Given the description of an element on the screen output the (x, y) to click on. 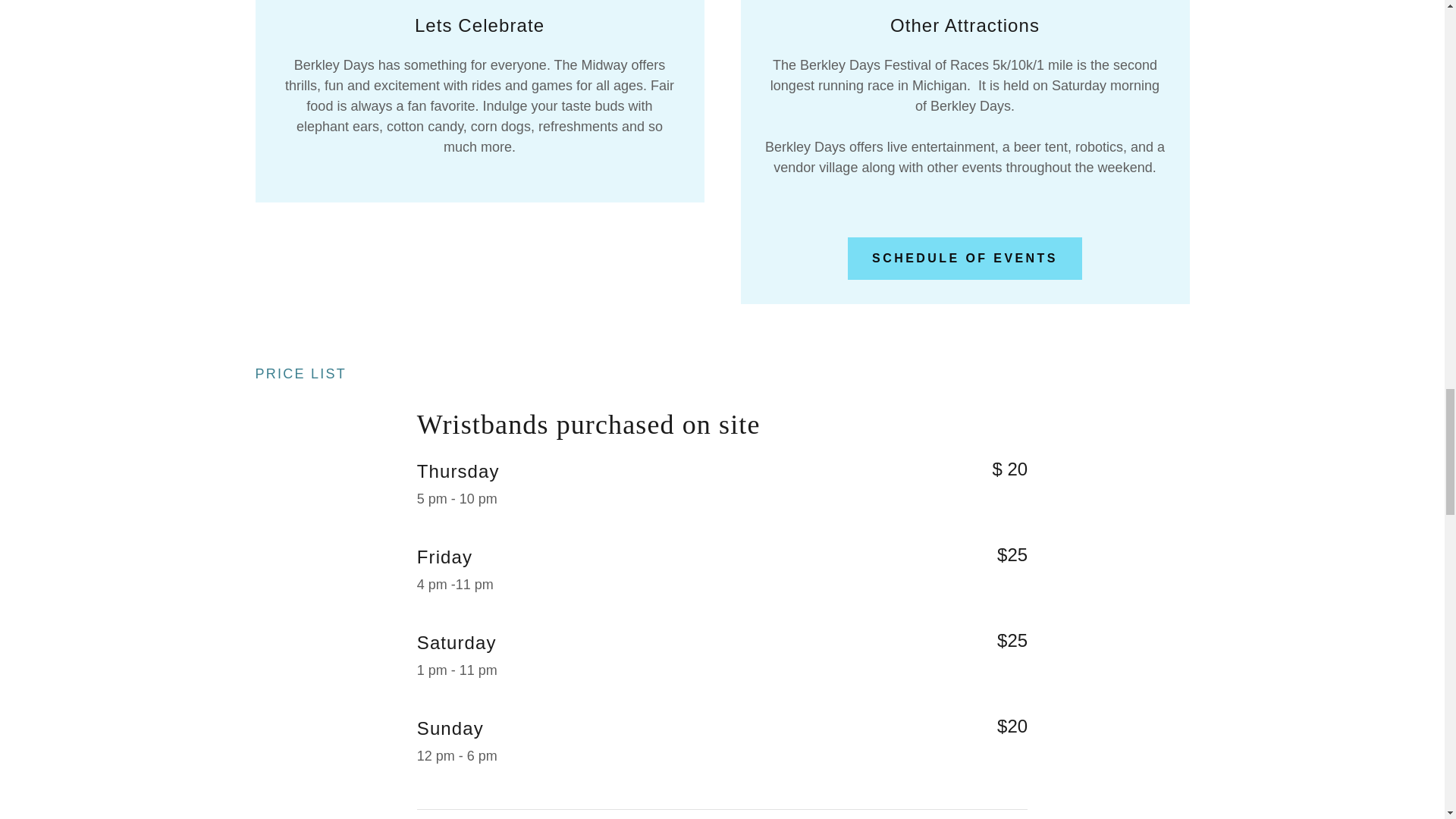
SCHEDULE OF EVENTS (964, 258)
